Given the description of an element on the screen output the (x, y) to click on. 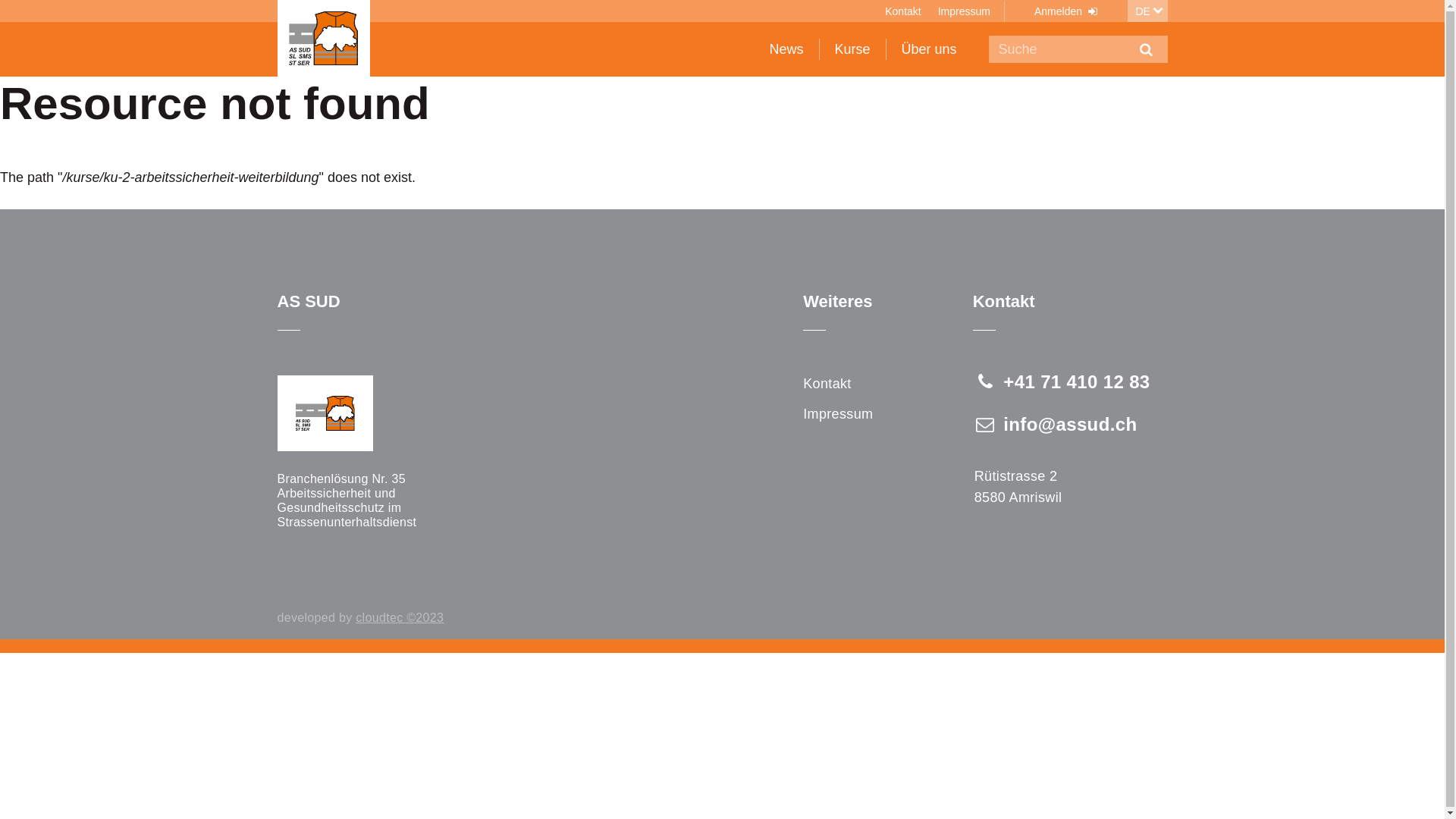
Anmelden Element type: text (1067, 10)
News Element type: text (787, 48)
+41 71 410 12 83 Element type: text (1061, 381)
Impressum Element type: text (964, 10)
Kontakt Element type: text (827, 383)
Kontakt Element type: text (902, 10)
info@assud.ch Element type: text (1054, 424)
Impressum Element type: text (837, 413)
Kurse Element type: text (853, 48)
